Given the description of an element on the screen output the (x, y) to click on. 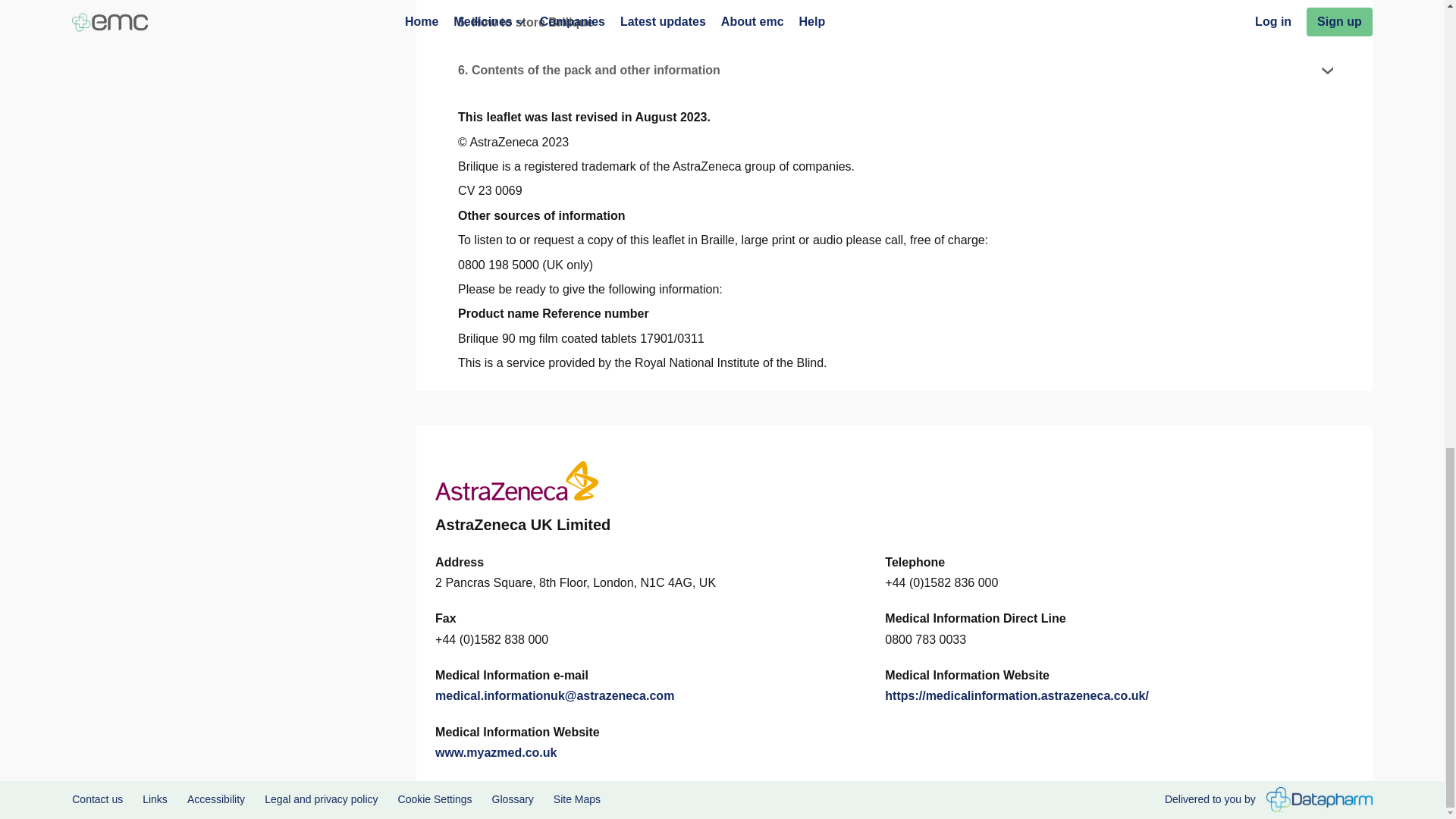
Links (154, 799)
Contact us (96, 799)
www.myazmed.co.uk (495, 752)
Accessibility (215, 799)
